Given the description of an element on the screen output the (x, y) to click on. 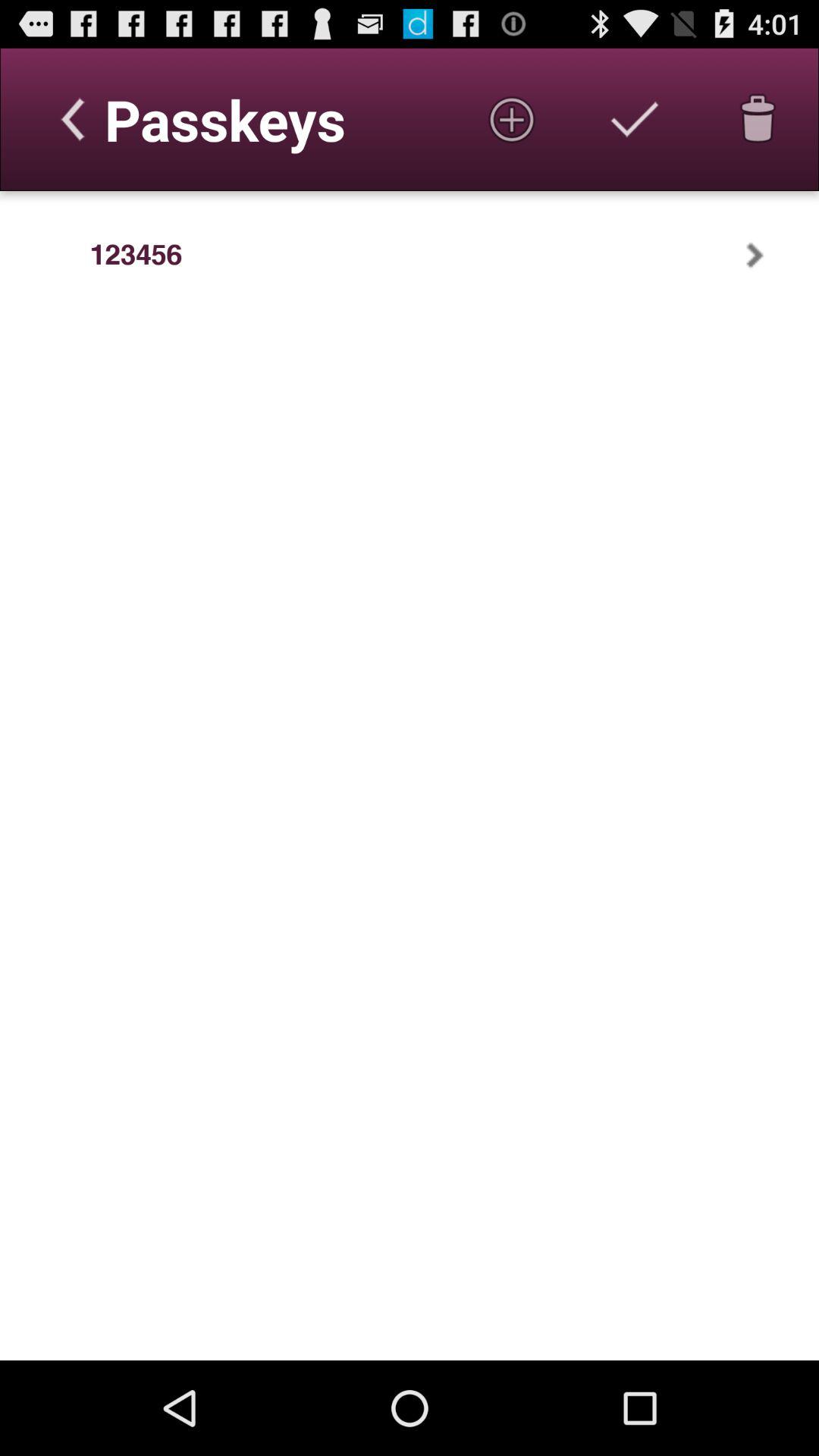
open app below the passkeys (135, 254)
